Given the description of an element on the screen output the (x, y) to click on. 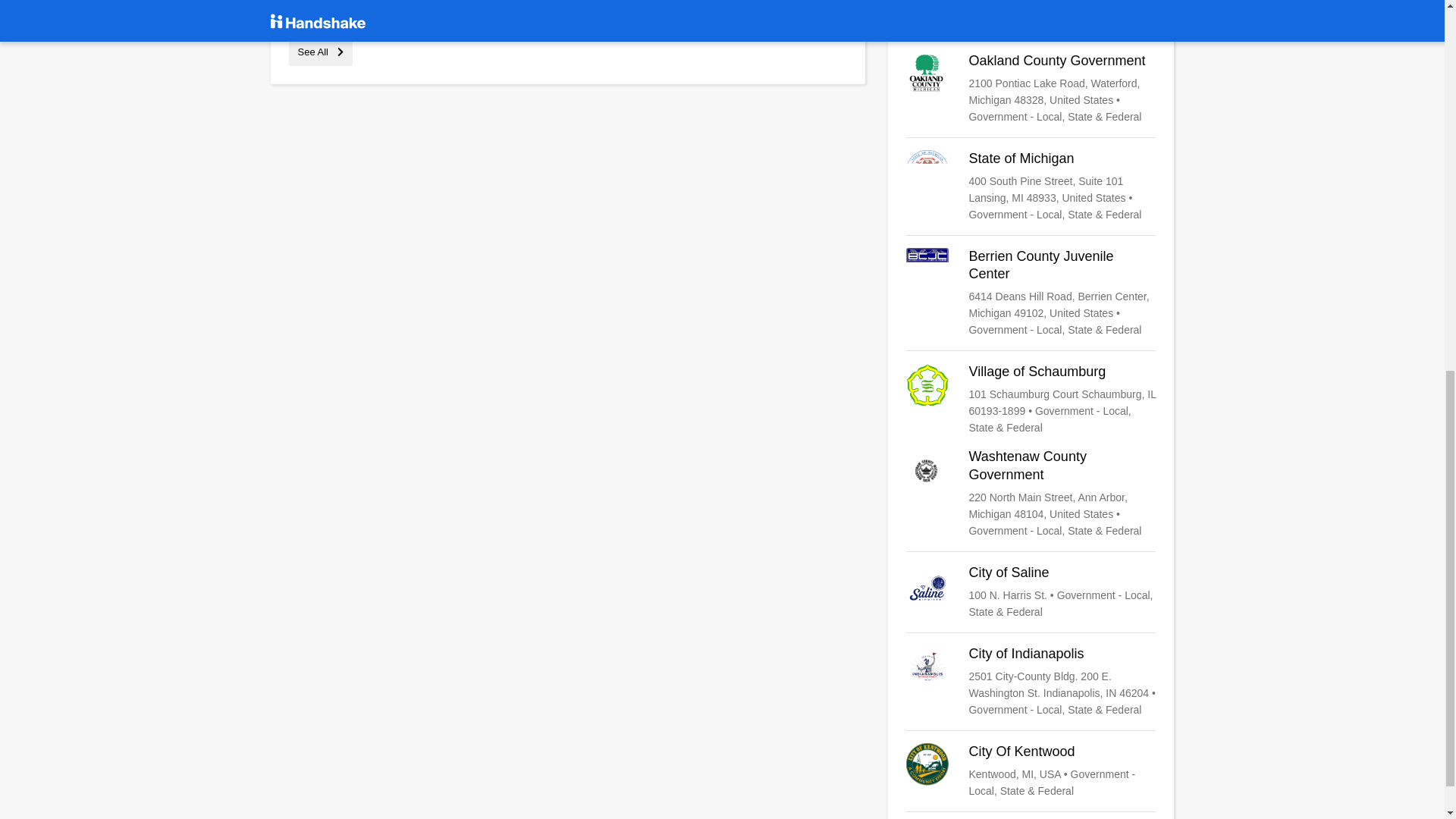
Village of Schaumburg (1030, 399)
State of Indiana (1030, 13)
See All (320, 51)
Berrien County Juvenile Center (1030, 293)
Oakland County Government (1030, 88)
City of Saline (1030, 591)
State of Michigan (1030, 185)
City Of Kentwood (1030, 770)
Washtenaw County Government (1030, 492)
City of Indianapolis (1030, 681)
